Given the description of an element on the screen output the (x, y) to click on. 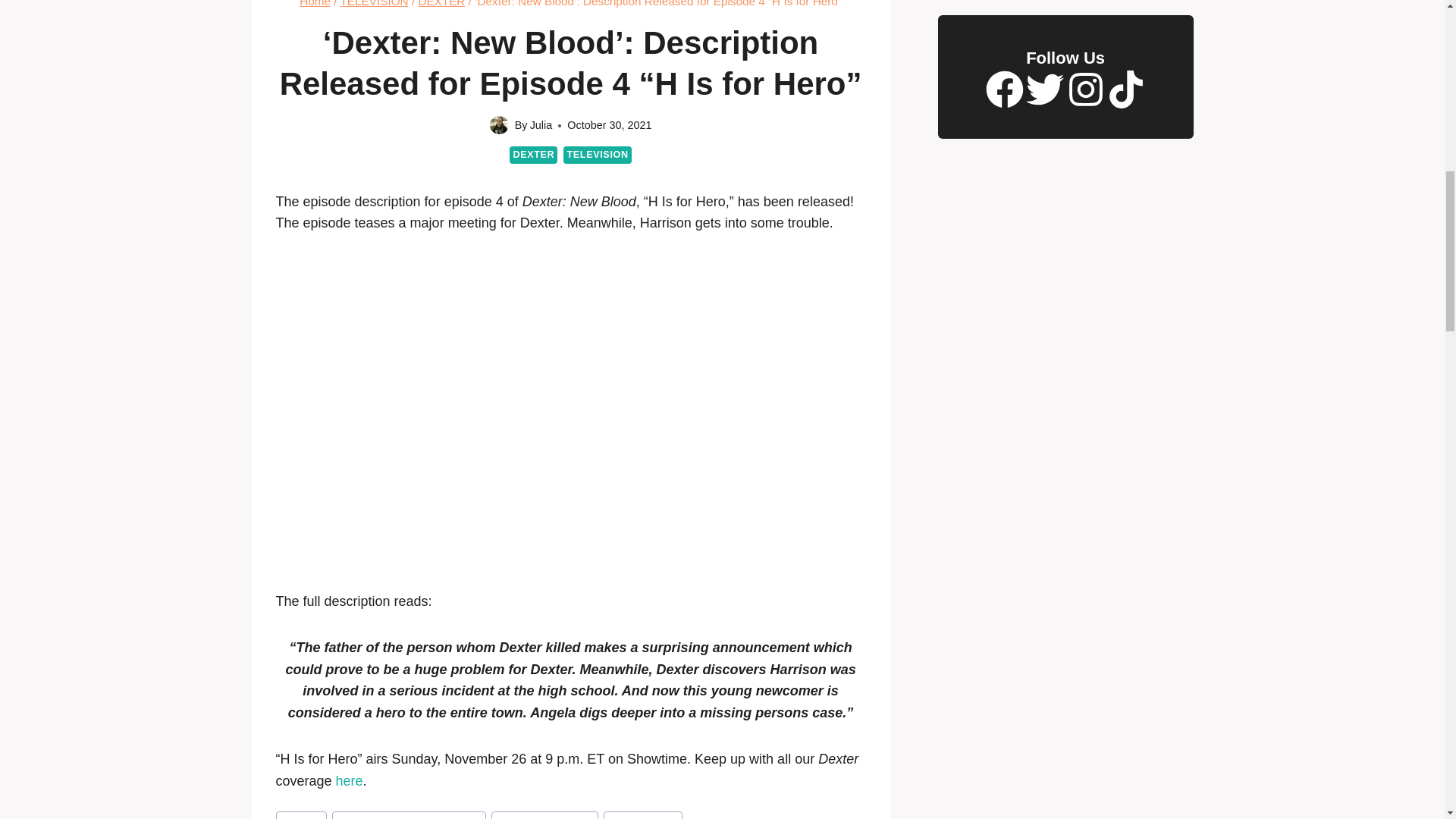
dexter: new blood (545, 815)
dexter (301, 815)
dexter new blood episode 4 (408, 815)
h is for hero (642, 815)
